Given the description of an element on the screen output the (x, y) to click on. 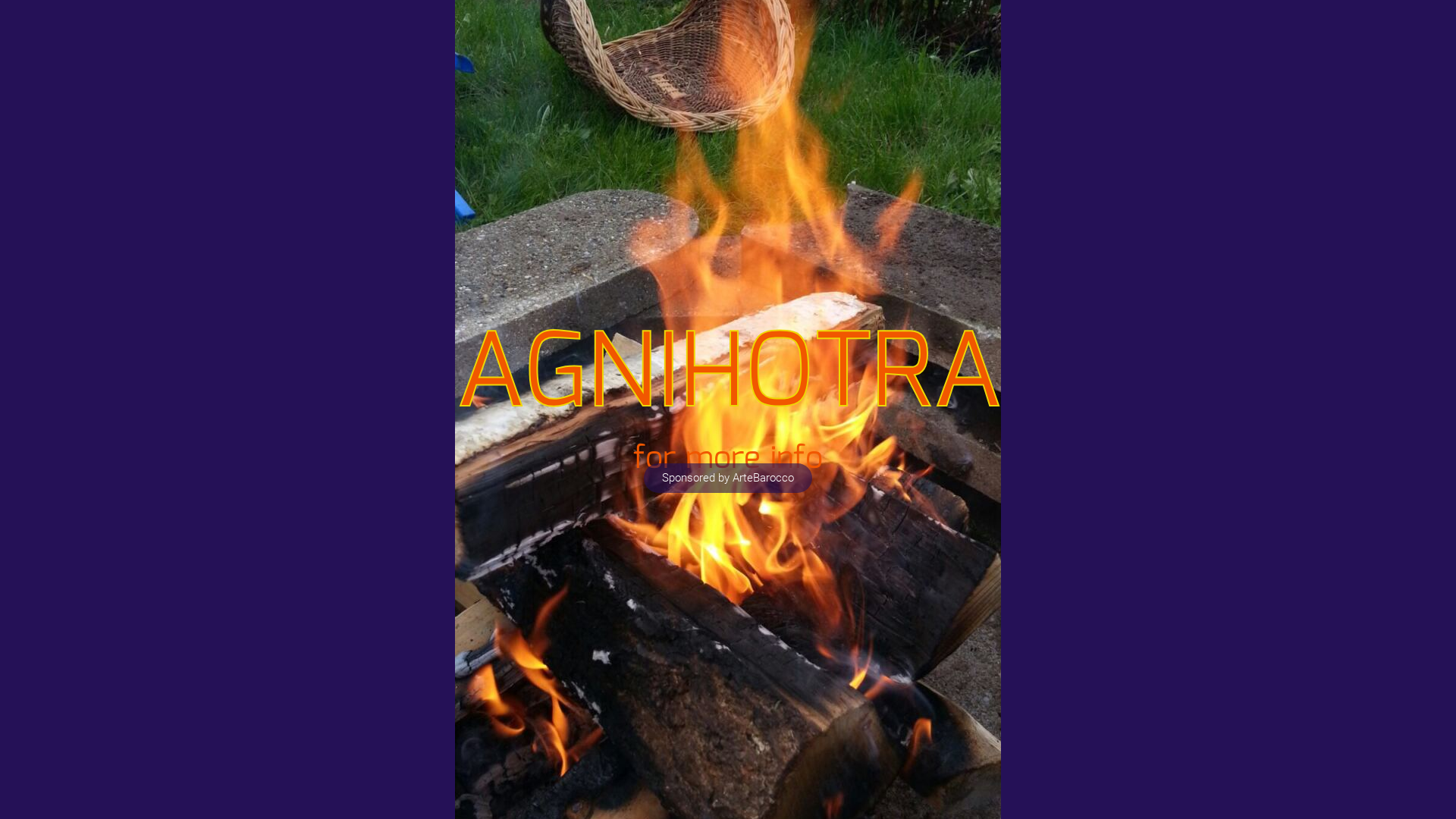
Sponsored by ArteBarocco Element type: text (727, 477)
